Given the description of an element on the screen output the (x, y) to click on. 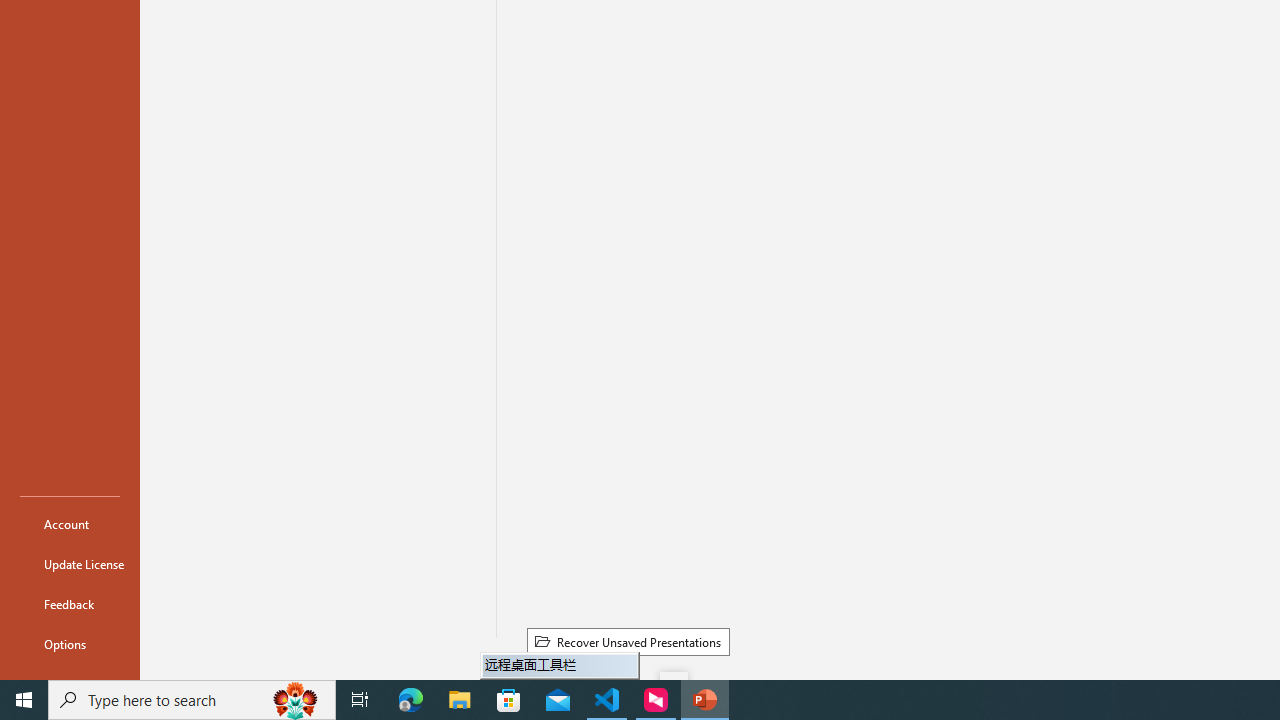
Options (69, 643)
Update License (69, 563)
Feedback (69, 603)
Account (69, 523)
Recover Unsaved Presentations (628, 641)
